Given the description of an element on the screen output the (x, y) to click on. 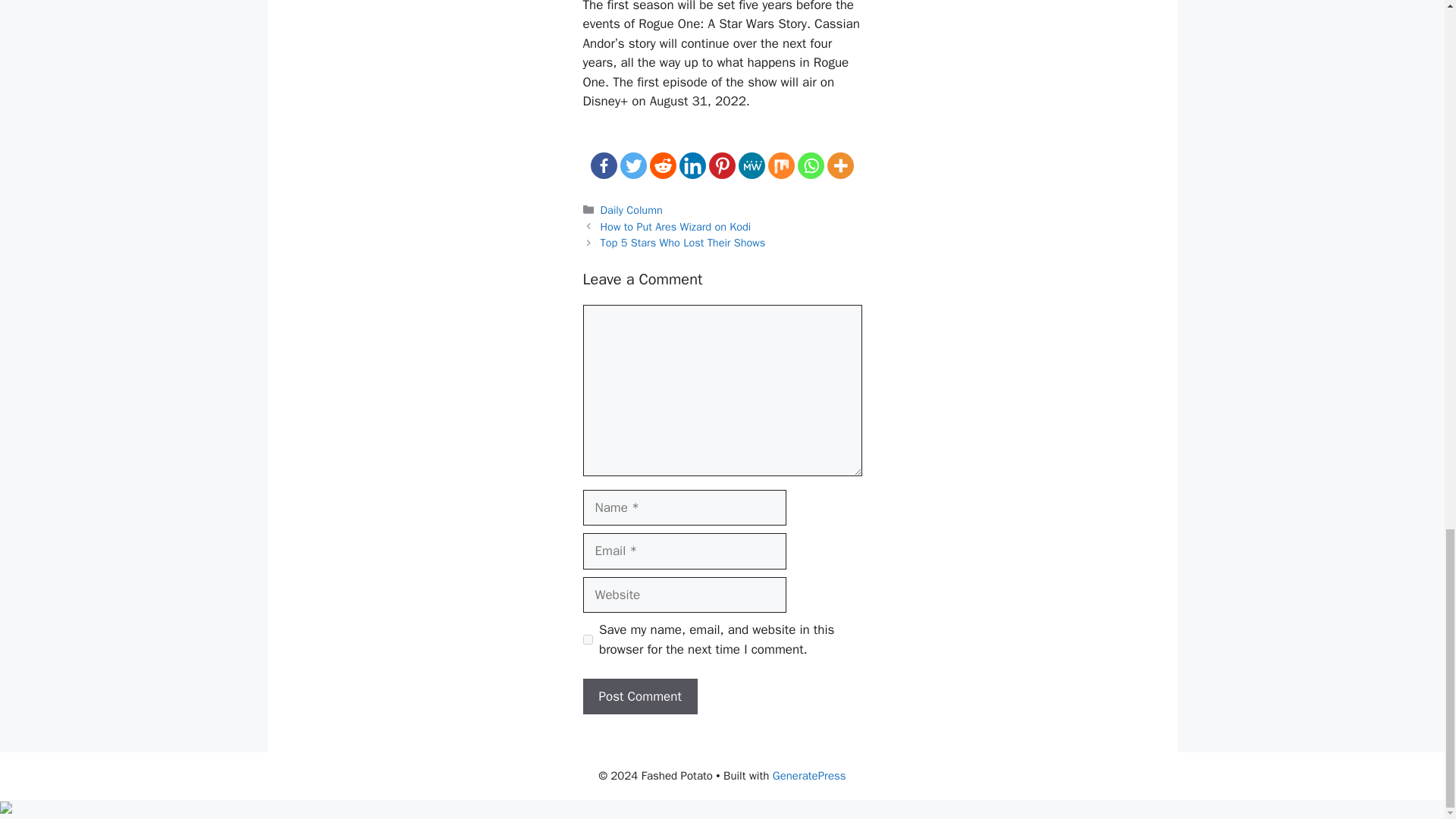
Facebook (604, 165)
Daily Column (630, 210)
yes (587, 639)
GeneratePress (809, 775)
Top 5 Stars Who Lost Their Shows (682, 242)
Reddit (663, 165)
How to Put Ares Wizard on Kodi (675, 226)
Post Comment (639, 696)
Twitter (633, 165)
Post Comment (639, 696)
